Given the description of an element on the screen output the (x, y) to click on. 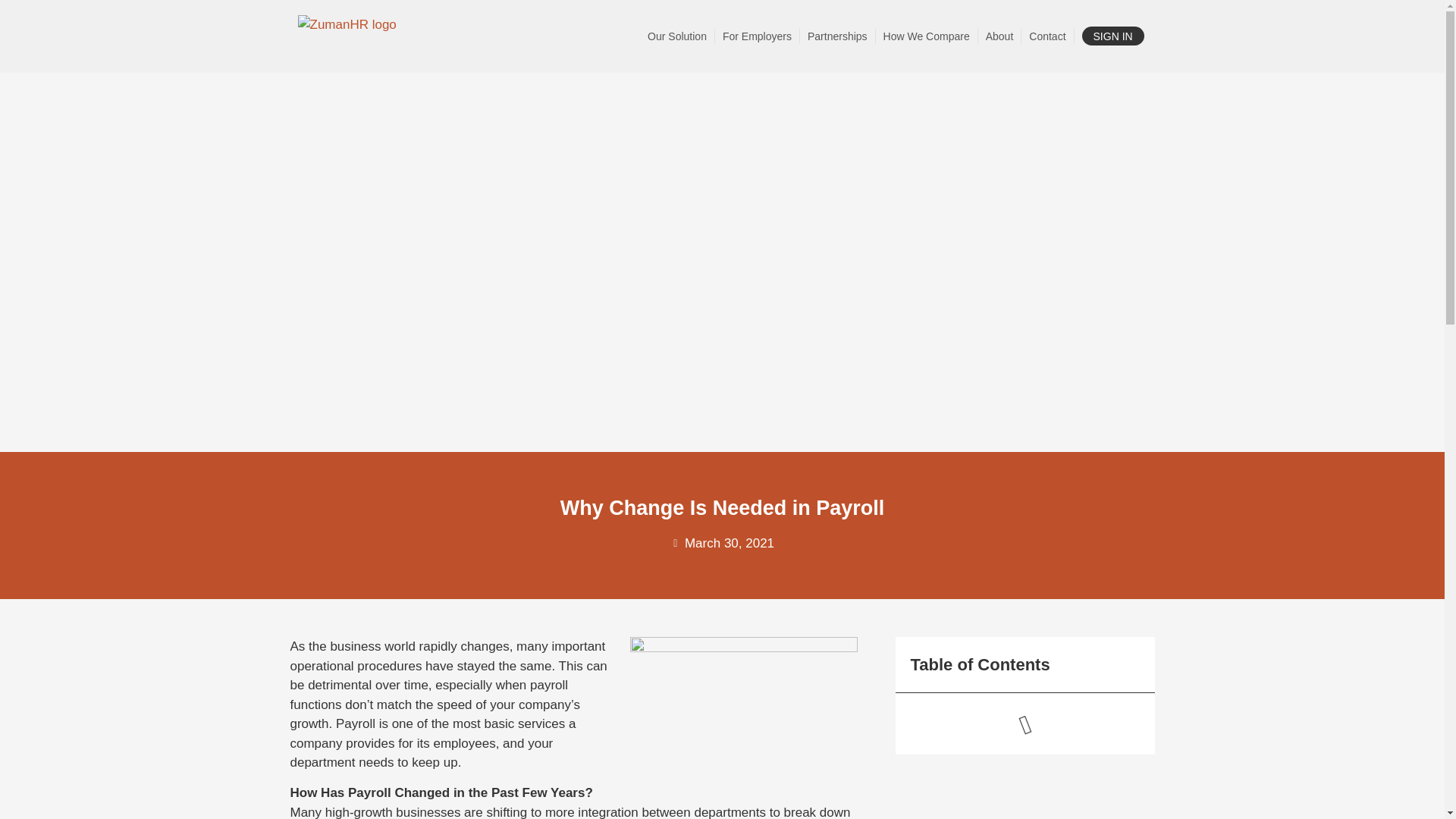
How We Compare (926, 36)
Contact (1047, 36)
For Employers (756, 36)
SIGN IN (1112, 35)
About (1000, 36)
Partnerships (837, 36)
Our Solution (677, 36)
